Given the description of an element on the screen output the (x, y) to click on. 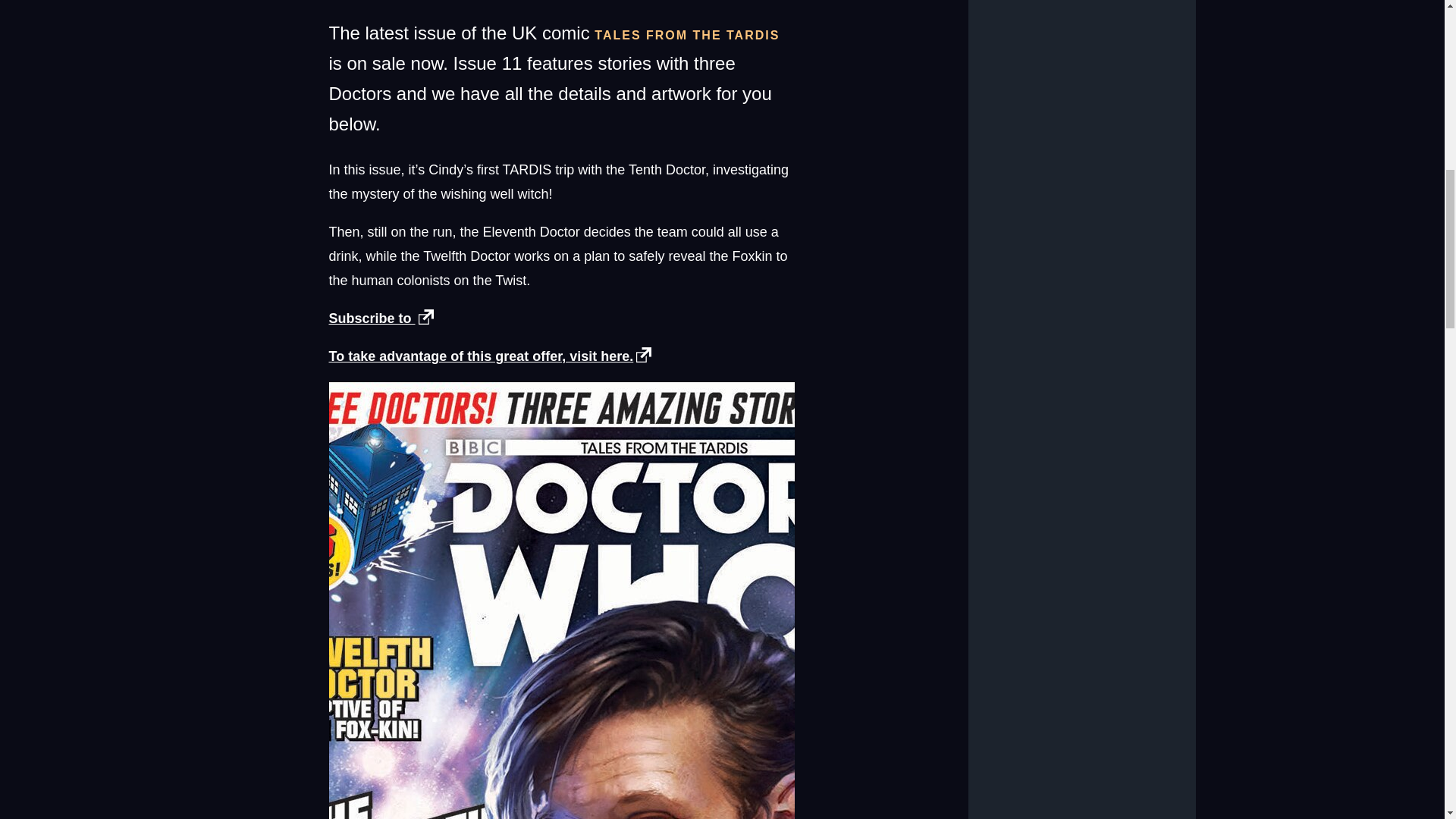
Subscribe to (384, 318)
To take advantage of this great offer, visit here. (493, 355)
